Given the description of an element on the screen output the (x, y) to click on. 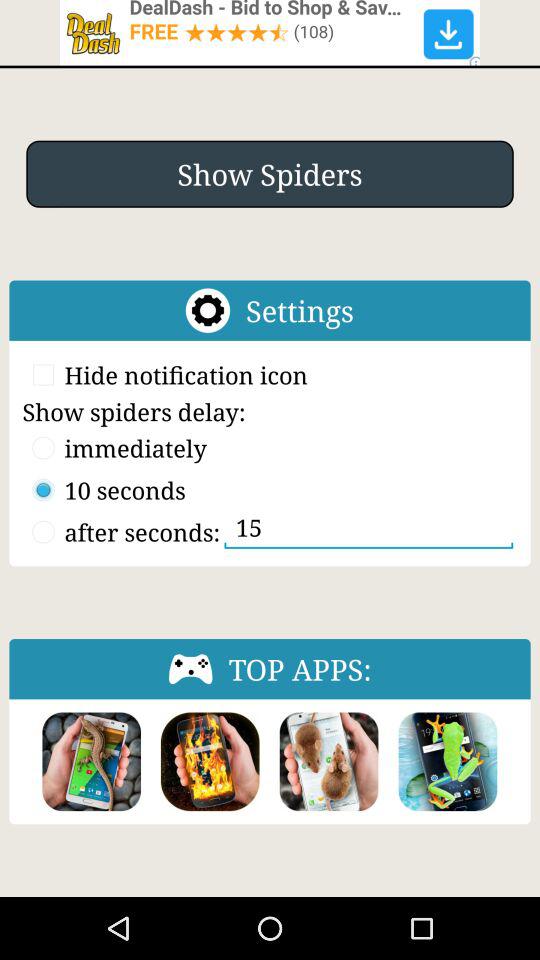
app image (328, 761)
